Given the description of an element on the screen output the (x, y) to click on. 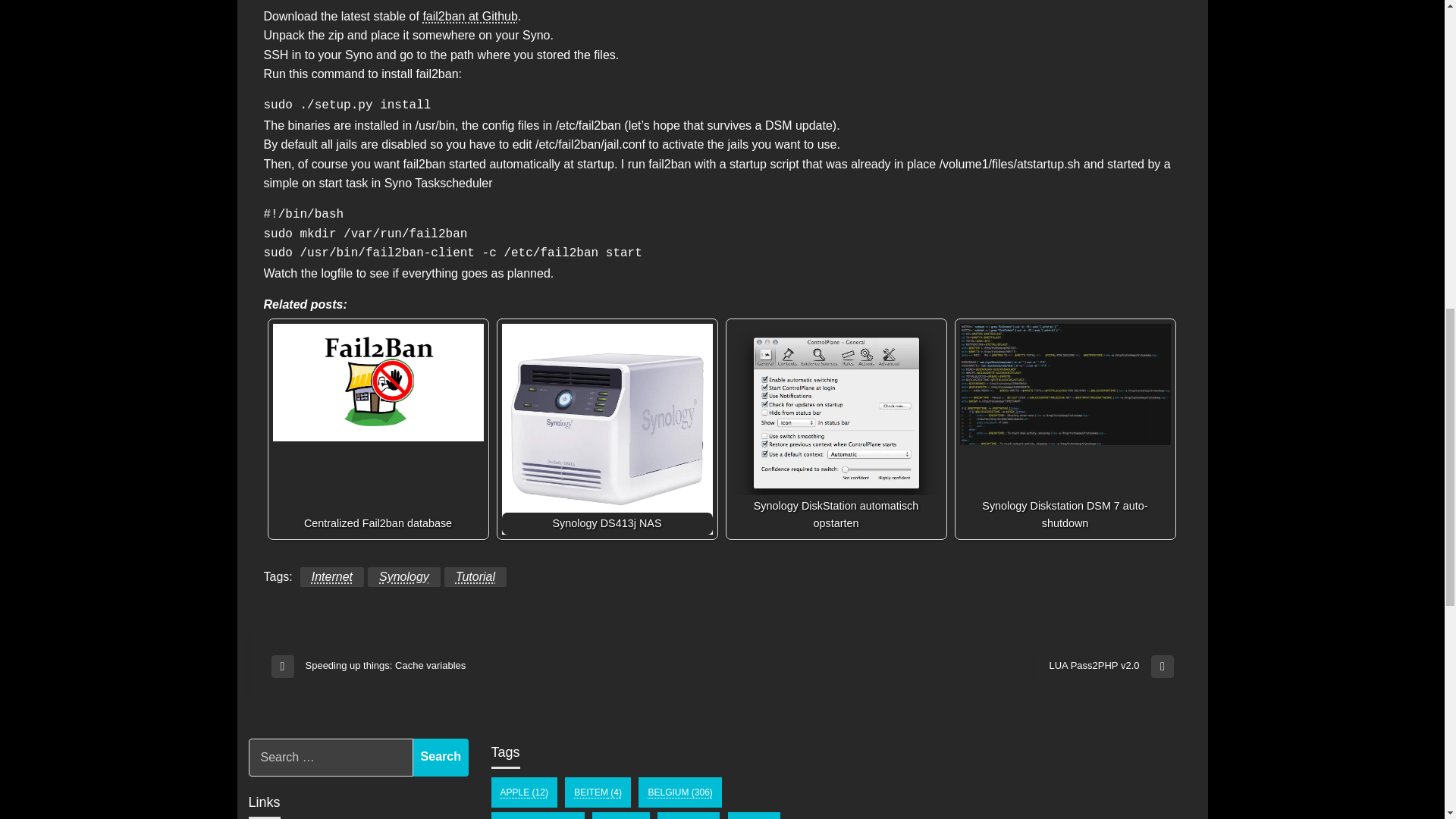
Search (440, 757)
fail2ban at Github (469, 15)
Centralized Fail2ban database (378, 428)
Synology DS413j NAS (607, 428)
Synology DiskStation automatisch opstarten (836, 428)
Synology Diskstation DSM 7 auto-shutdown (1102, 666)
Synology DiskStation automatisch opstarten (1064, 428)
Synology Diskstation DSM 7 auto-shutdown (836, 421)
Synology DS413j NAS (1064, 384)
